Given the description of an element on the screen output the (x, y) to click on. 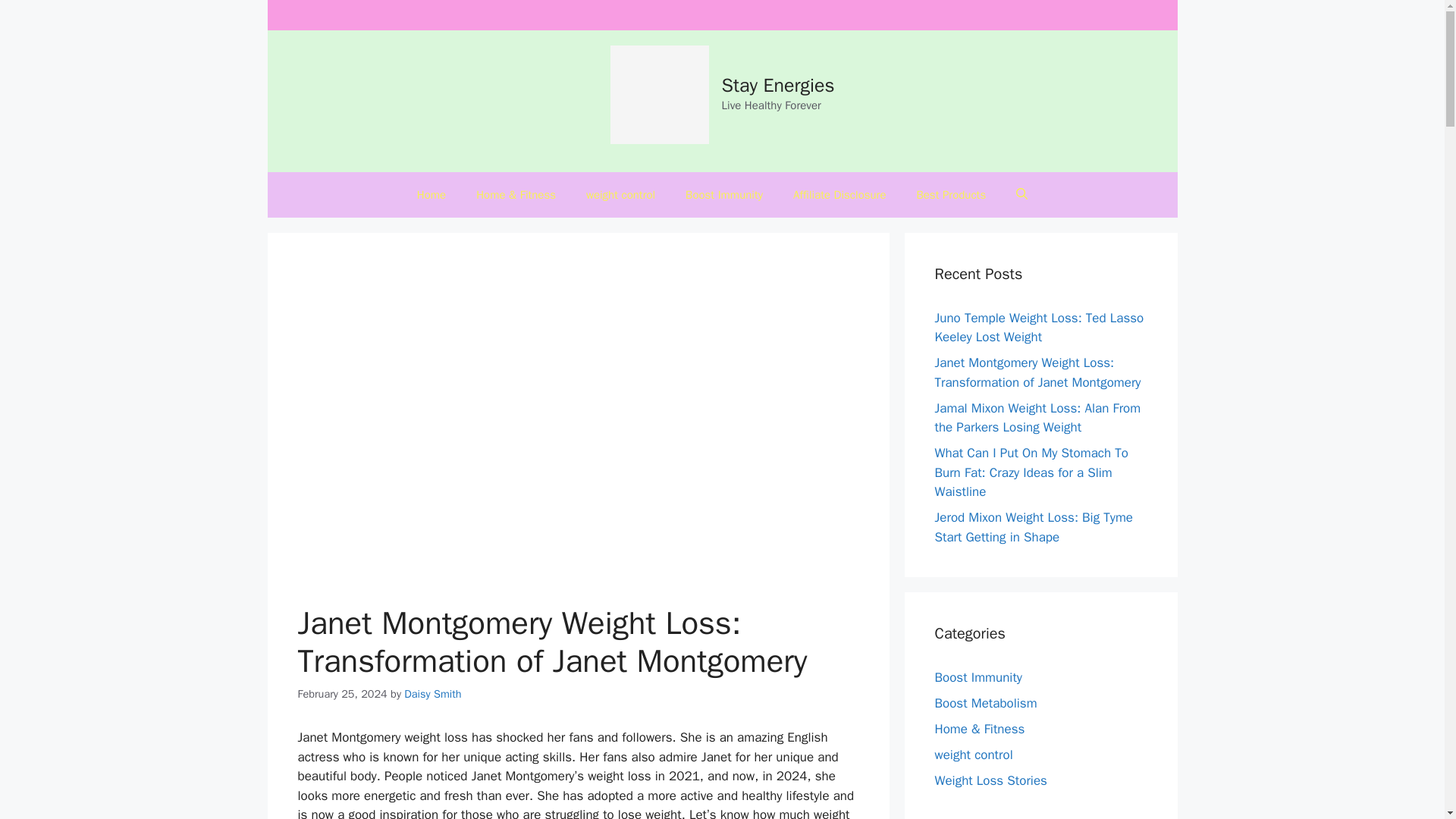
Stay Energies (778, 85)
View all posts by Daisy Smith (432, 694)
Boost Immunity (723, 194)
Affiliate Disclosure (839, 194)
Best Products (951, 194)
Daisy Smith (432, 694)
weight control (619, 194)
Home (431, 194)
